Given the description of an element on the screen output the (x, y) to click on. 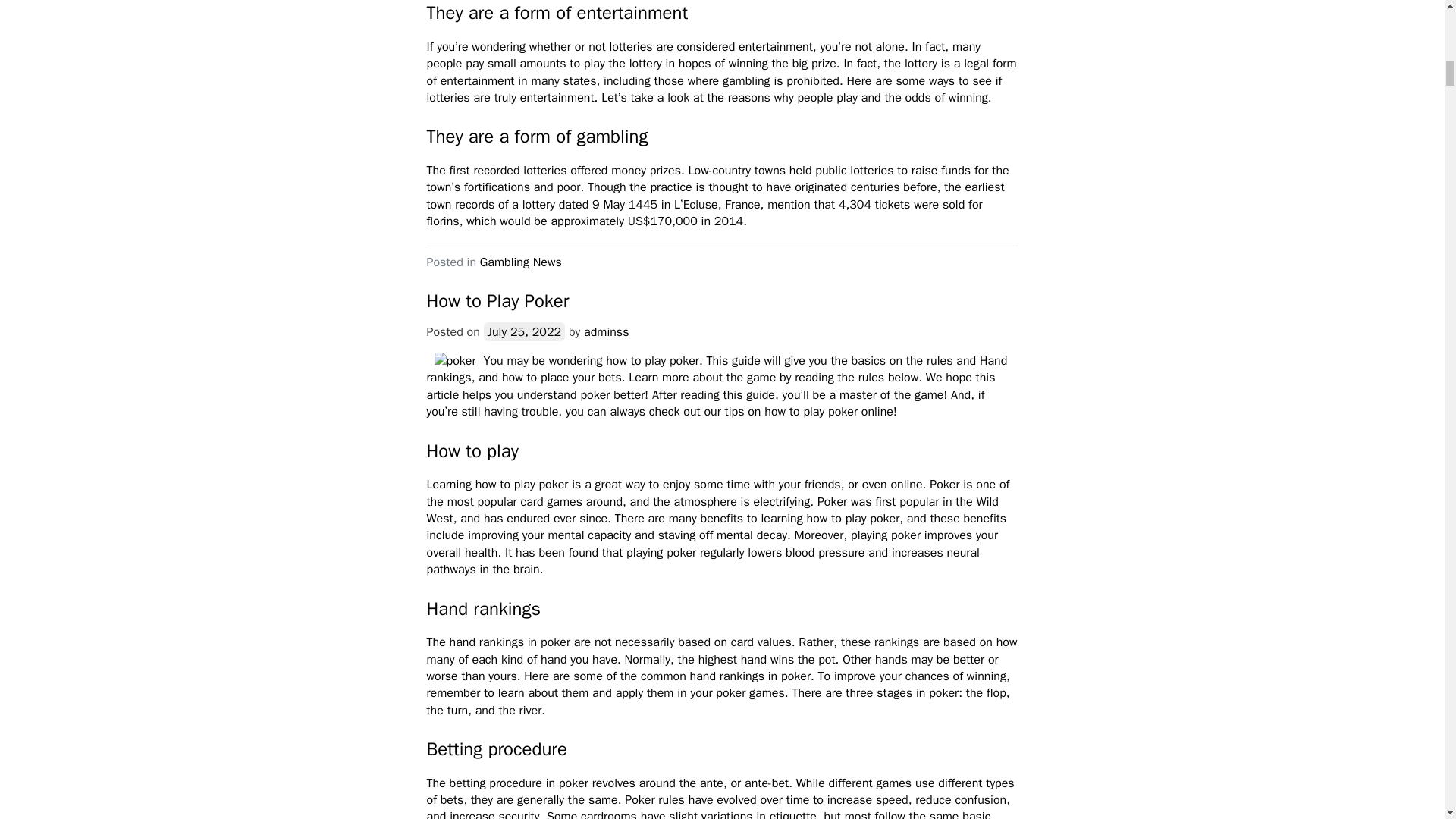
How to Play Poker (497, 300)
Gambling News (521, 262)
July 25, 2022 (524, 331)
